Given the description of an element on the screen output the (x, y) to click on. 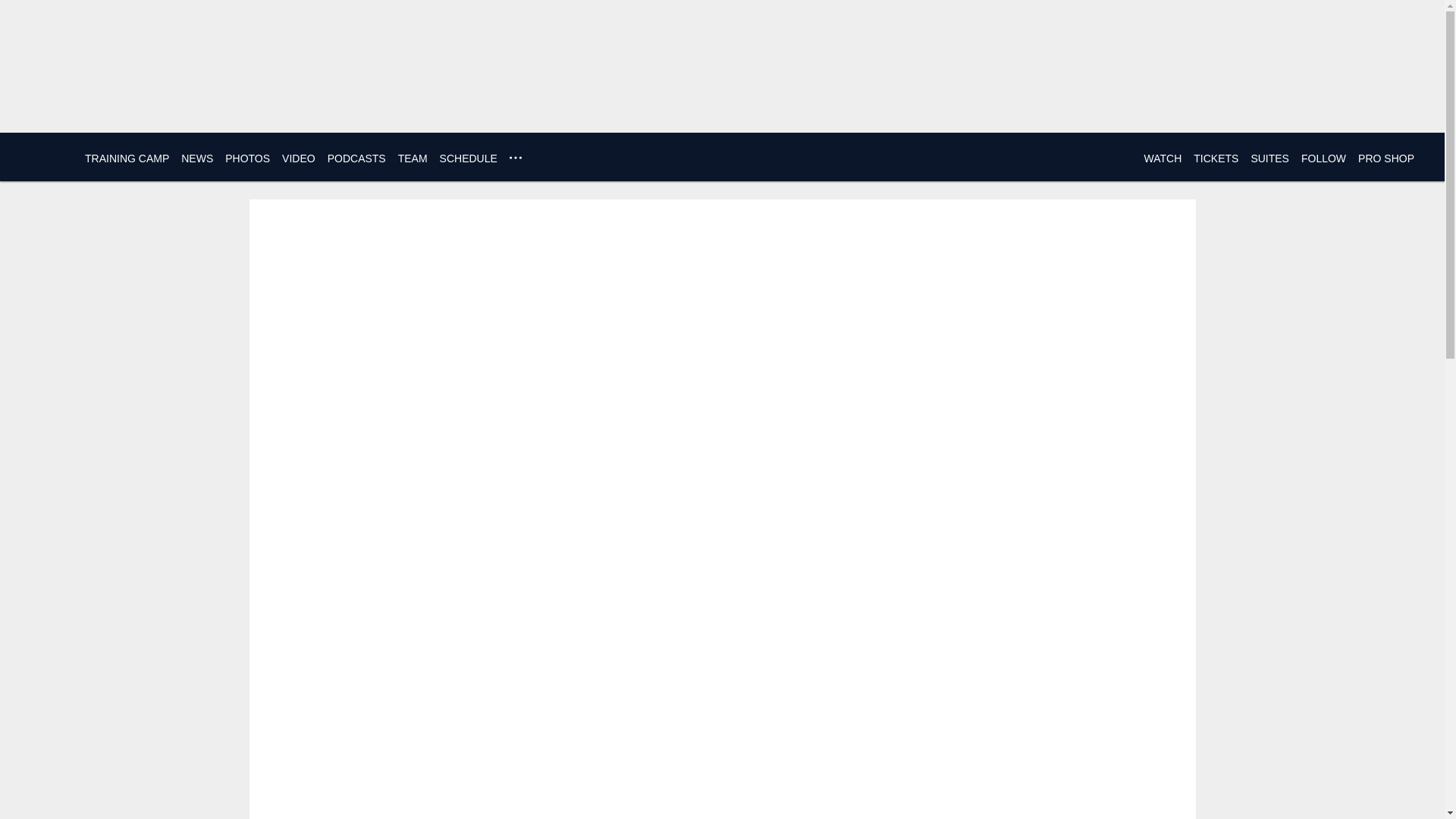
PHOTOS (247, 158)
TEAM (412, 158)
PRO SHOP (1385, 158)
SCHEDULE (468, 158)
SUITES (1269, 158)
TEAM (412, 158)
NEWS (196, 158)
WATCH (1161, 158)
TICKETS (1216, 158)
SCHEDULE (468, 158)
... (515, 157)
Link to club's homepage (42, 156)
TICKETS (1216, 158)
FOLLOW (1323, 158)
VIDEO (298, 158)
